Given the description of an element on the screen output the (x, y) to click on. 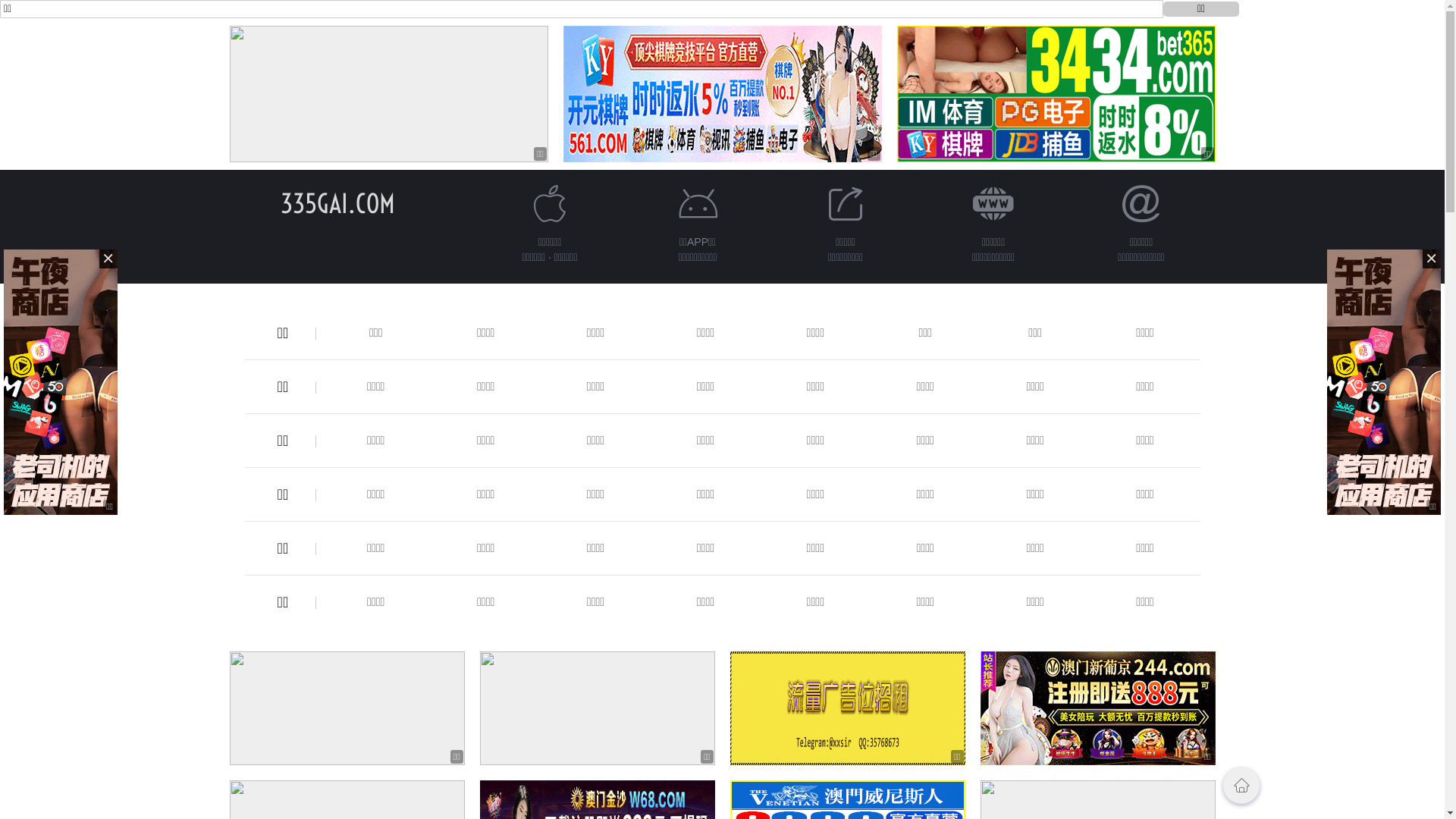
335GAI.COM Element type: text (337, 203)
